Given the description of an element on the screen output the (x, y) to click on. 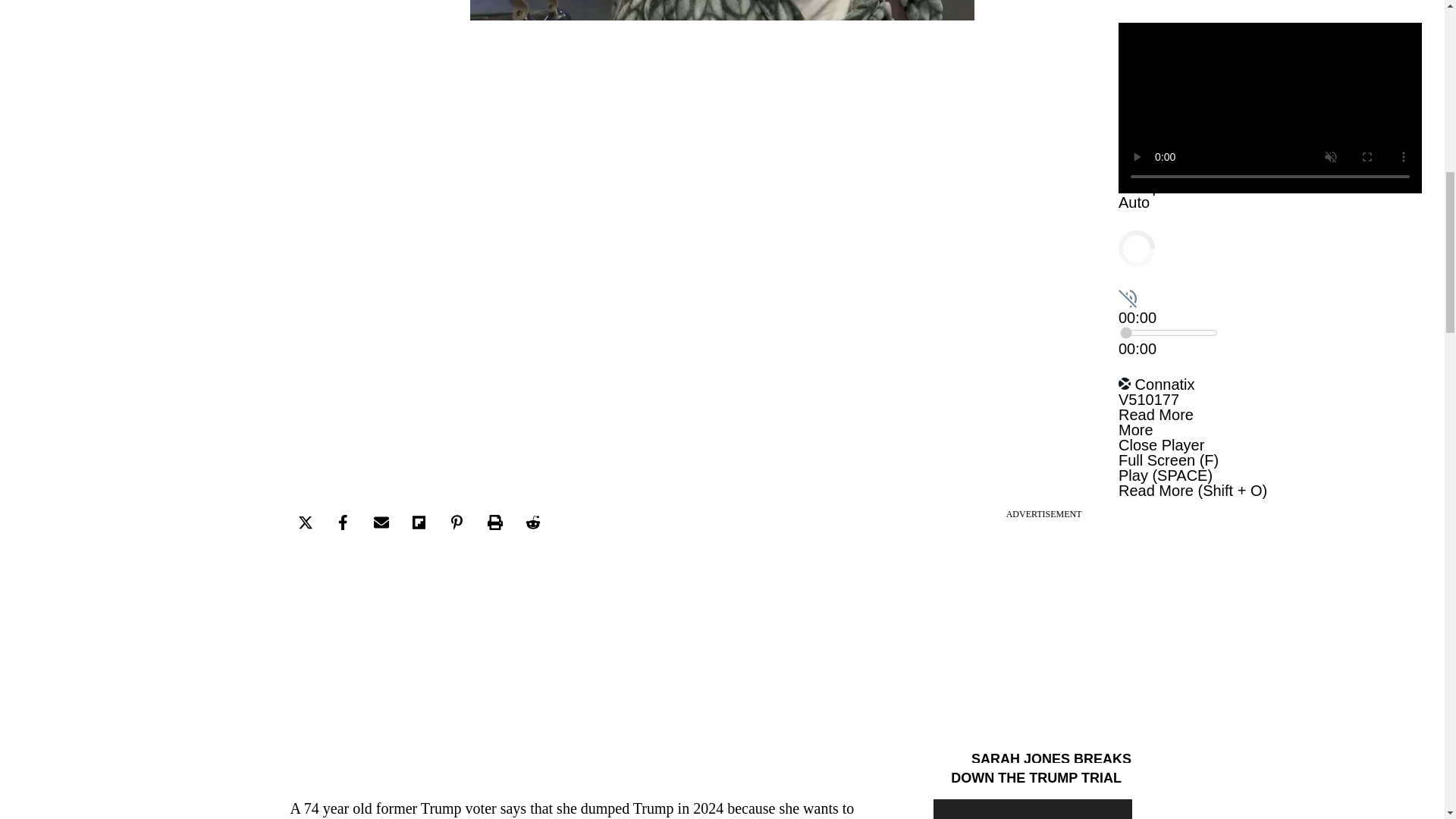
X (1434, 760)
